Given the description of an element on the screen output the (x, y) to click on. 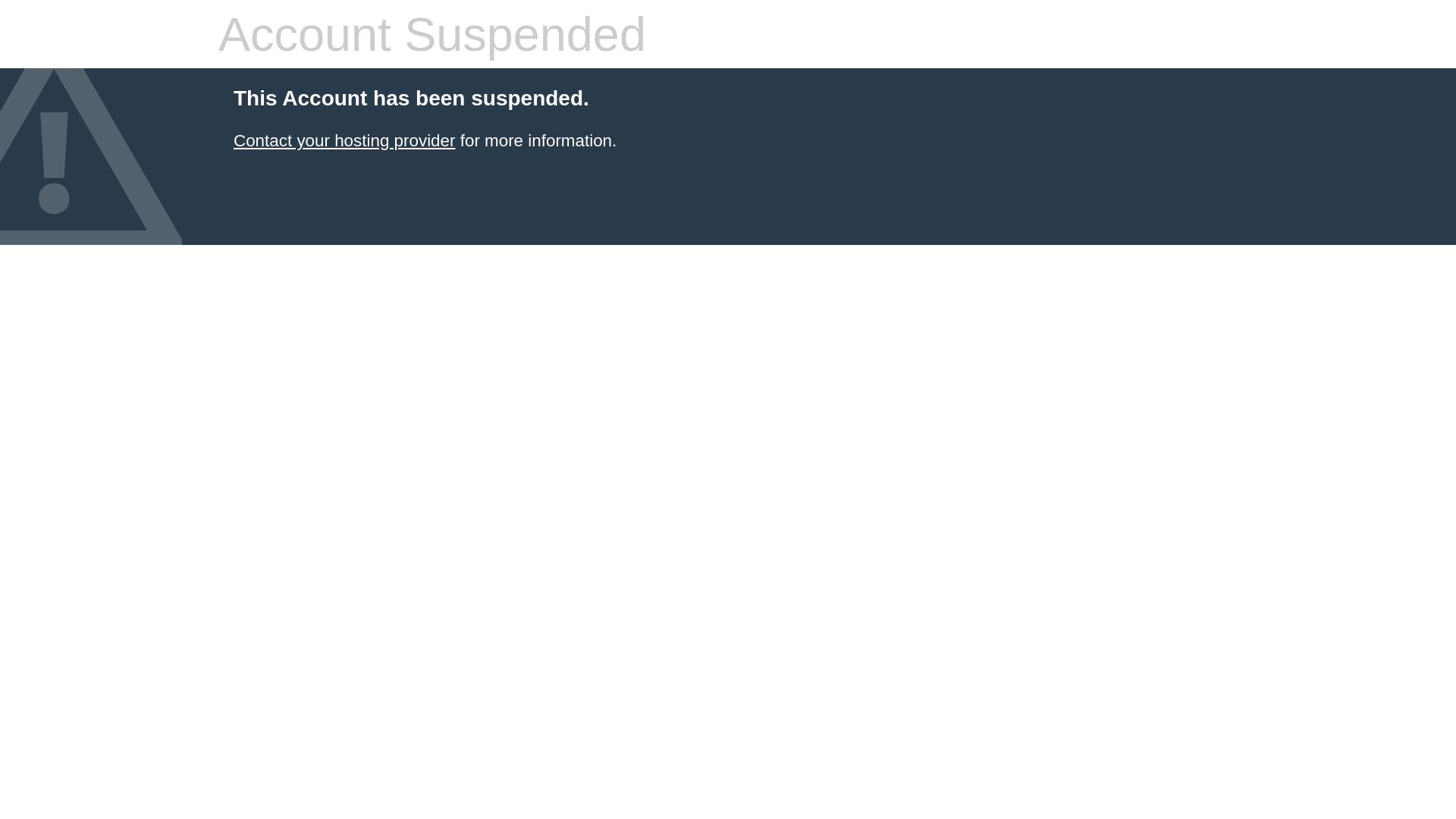
Contact your hosting provider Element type: text (344, 140)
